Given the description of an element on the screen output the (x, y) to click on. 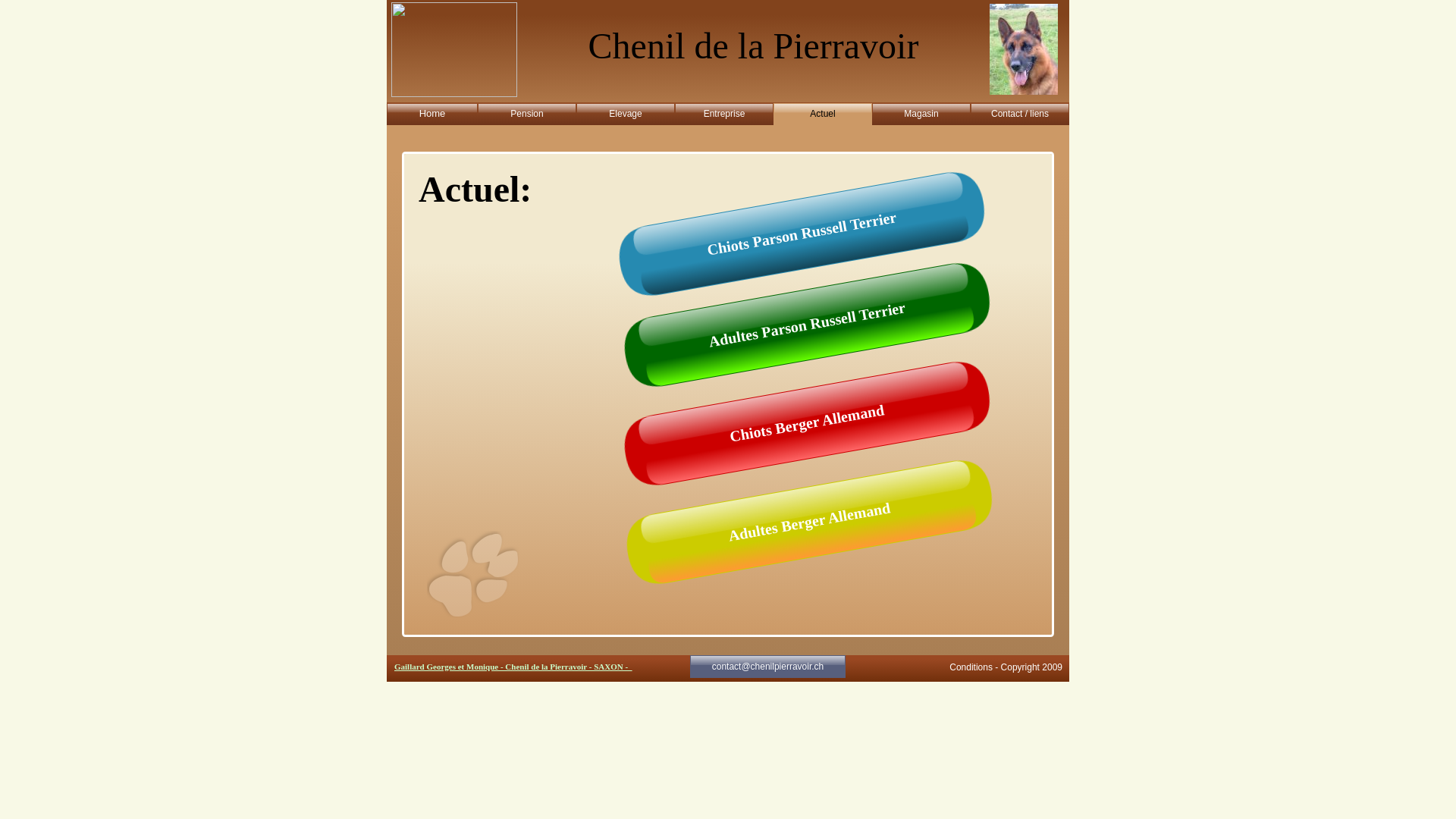
  Element type: text (387, 671)
  Element type: text (387, 6)
